Given the description of an element on the screen output the (x, y) to click on. 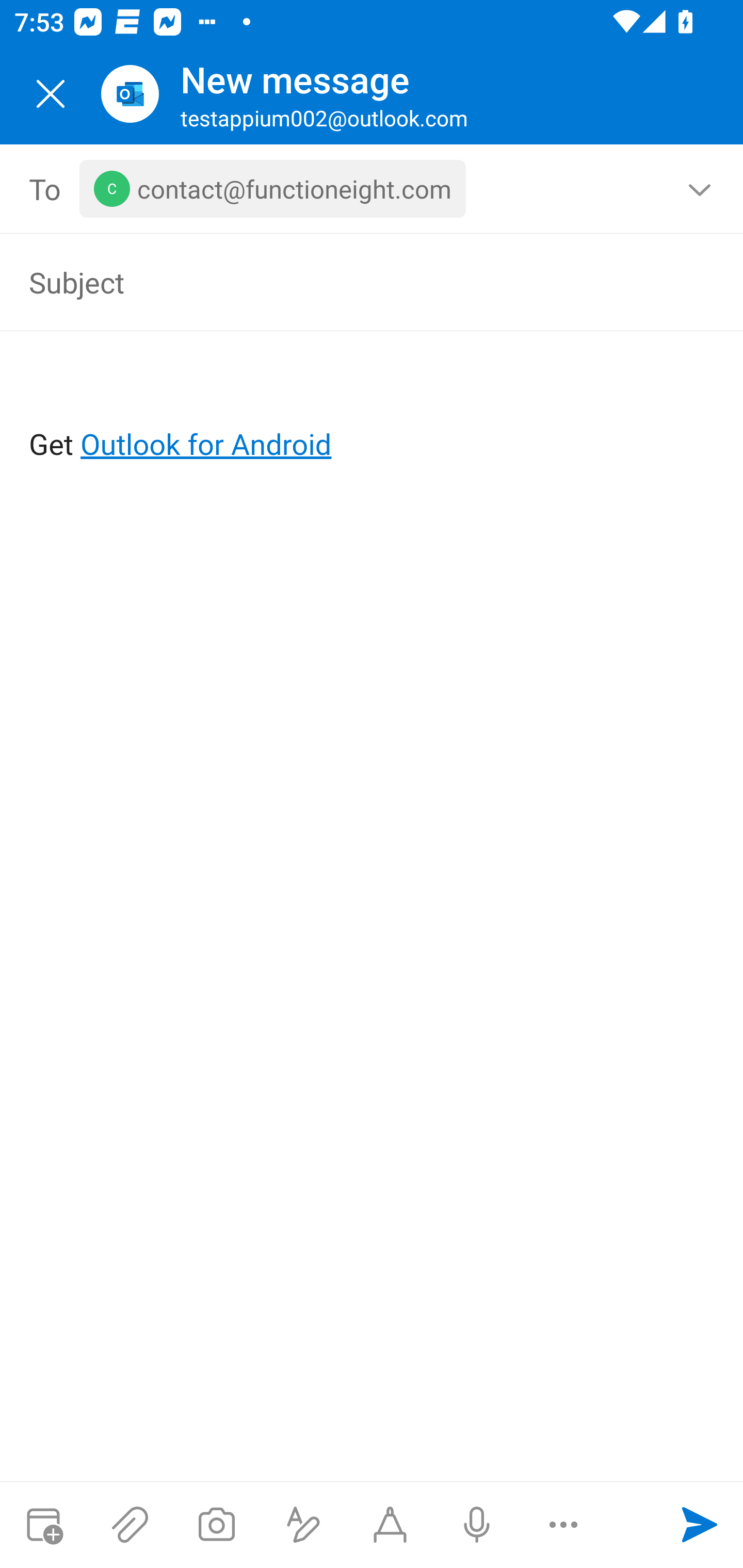
Close (50, 93)
Subject (342, 281)


Get Outlook for Android (372, 411)
Attach meeting (43, 1524)
Attach files (129, 1524)
Take a photo (216, 1524)
Show formatting options (303, 1524)
Start Ink compose (389, 1524)
Dictation (476, 1524)
More options (563, 1524)
Send (699, 1524)
